Given the description of an element on the screen output the (x, y) to click on. 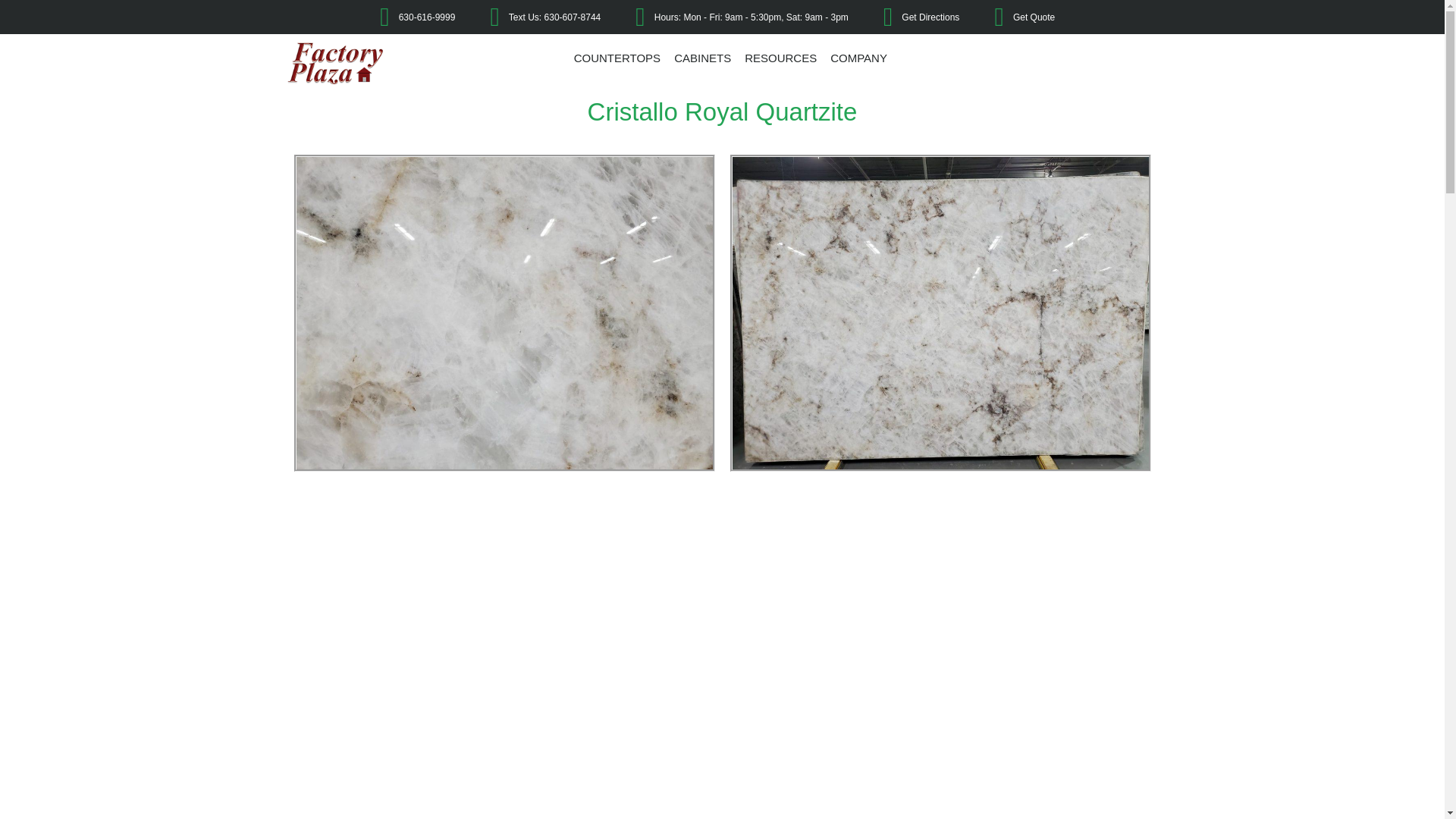
Get Quote (1012, 17)
Get Directions (909, 17)
Text Us: 630-607-8744 (533, 17)
Cristallo Royal Quartzite 2 (939, 312)
630-616-9999 (405, 17)
Cristallo Royal Quartzite 1 (504, 312)
CABINETS (702, 58)
COUNTERTOPS (616, 58)
